Given the description of an element on the screen output the (x, y) to click on. 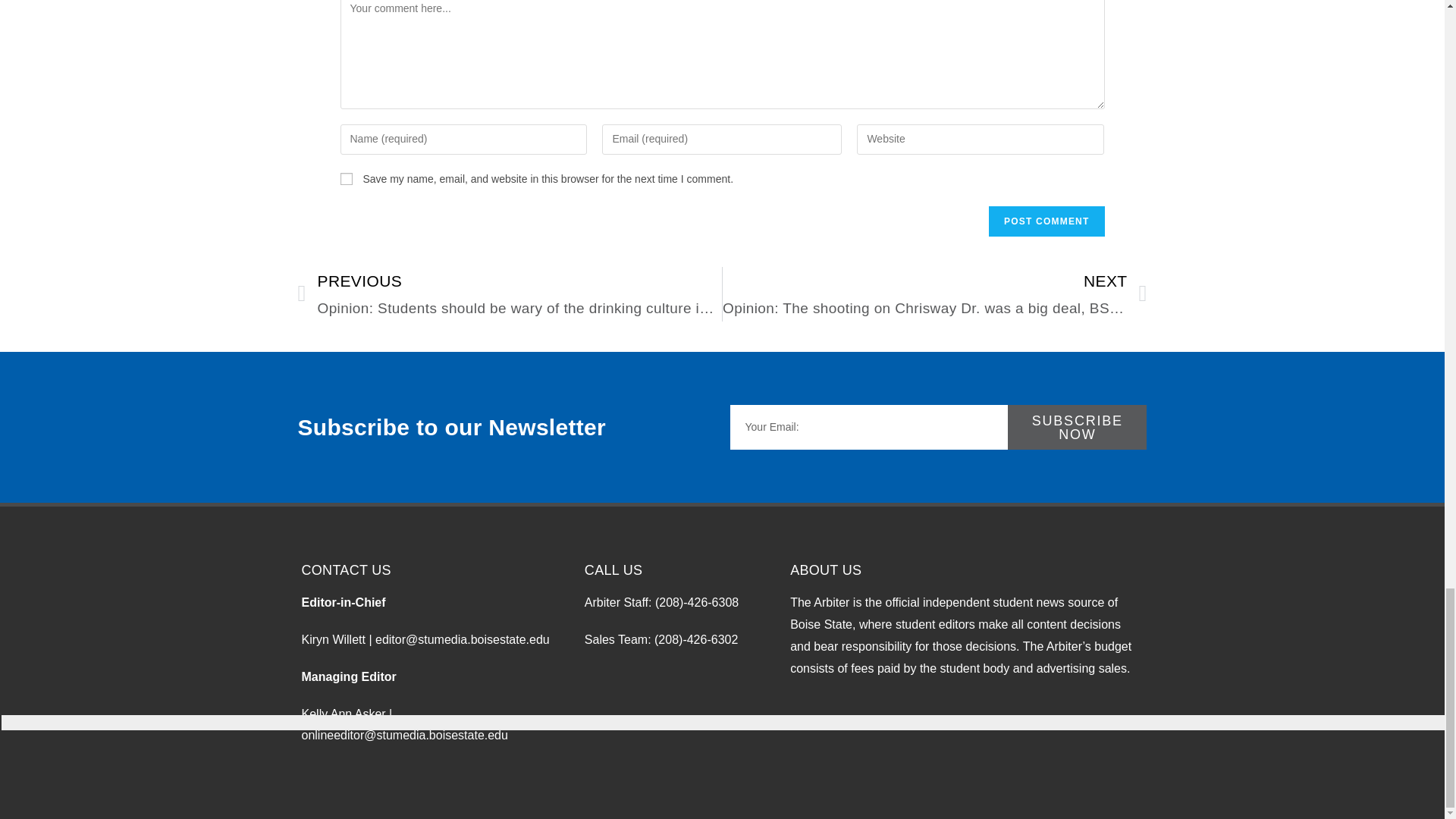
Post Comment (1045, 221)
yes (345, 178)
